Given the description of an element on the screen output the (x, y) to click on. 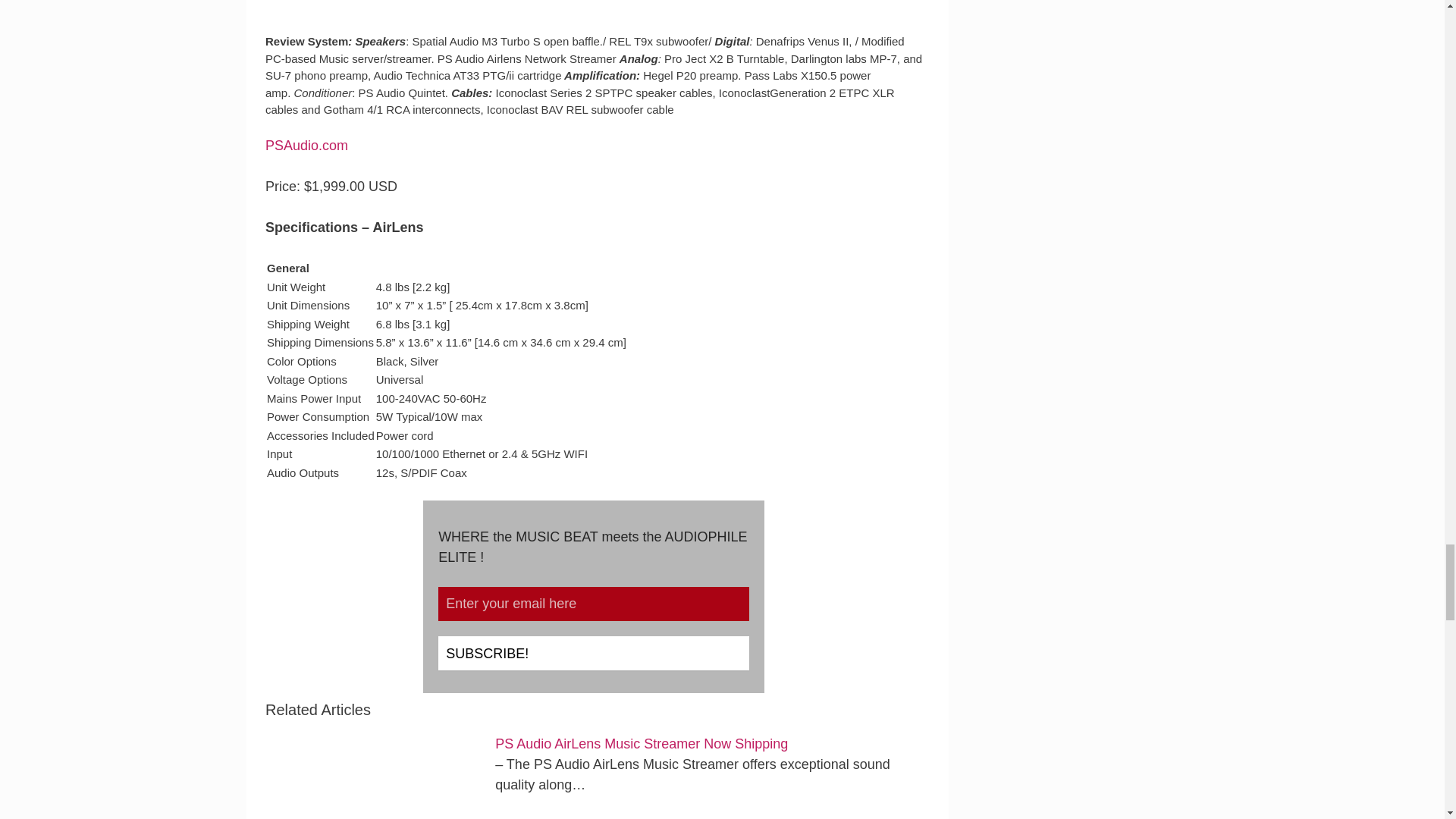
PS Audio AirLens Music Streamer Now Shipping (641, 743)
PSAudio.com (305, 145)
Subscribe! (593, 653)
Subscribe! (593, 653)
